Given the description of an element on the screen output the (x, y) to click on. 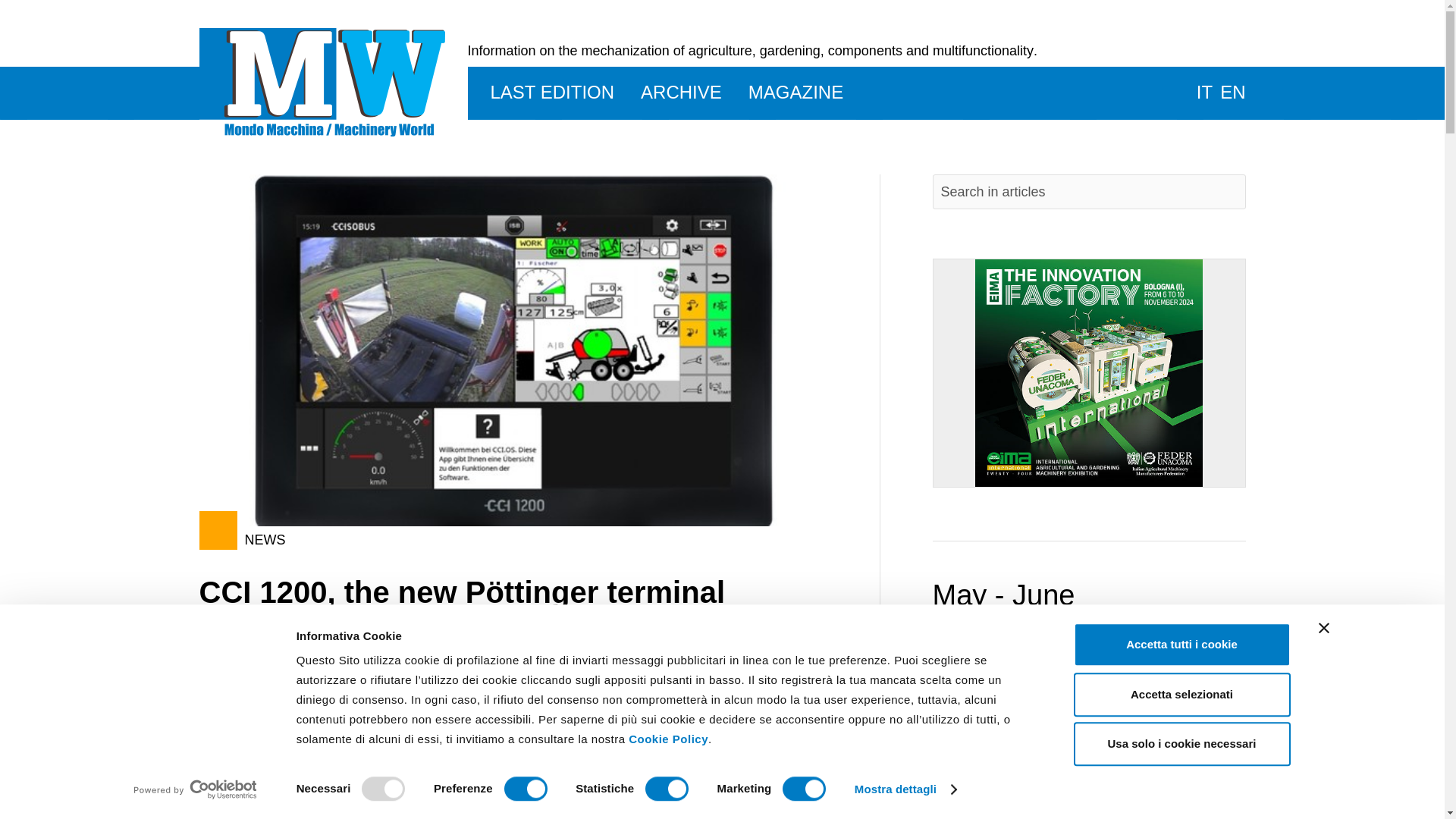
Accetta selezionati (1182, 694)
Search in articles (1089, 191)
Cookie Policy (667, 738)
LAST EDITION (540, 92)
Accetta tutti i cookie (1182, 644)
Mostra dettagli (905, 789)
Usa solo i cookie necessari (1182, 743)
